Given the description of an element on the screen output the (x, y) to click on. 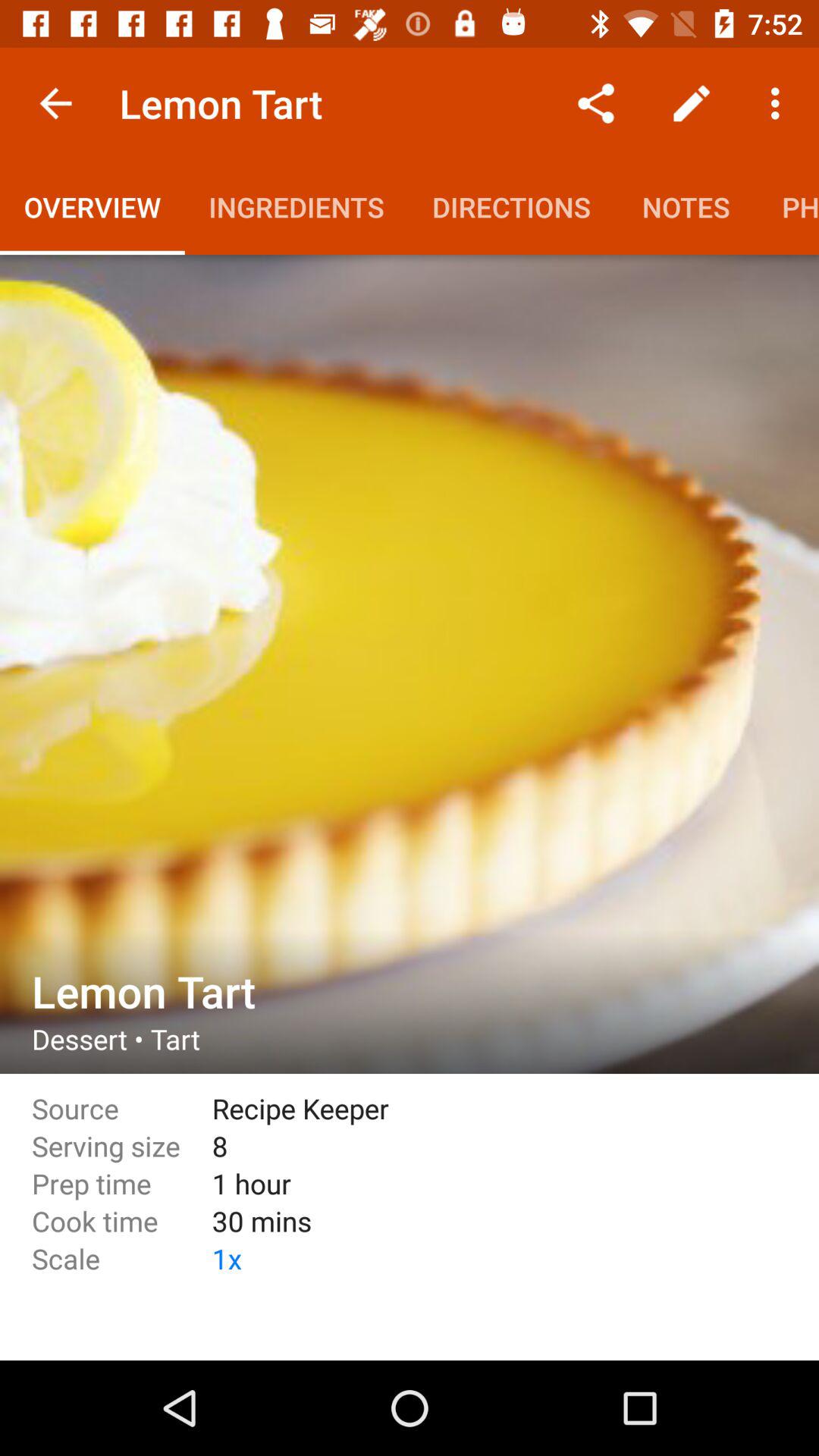
launch the item above the notes icon (691, 103)
